Given the description of an element on the screen output the (x, y) to click on. 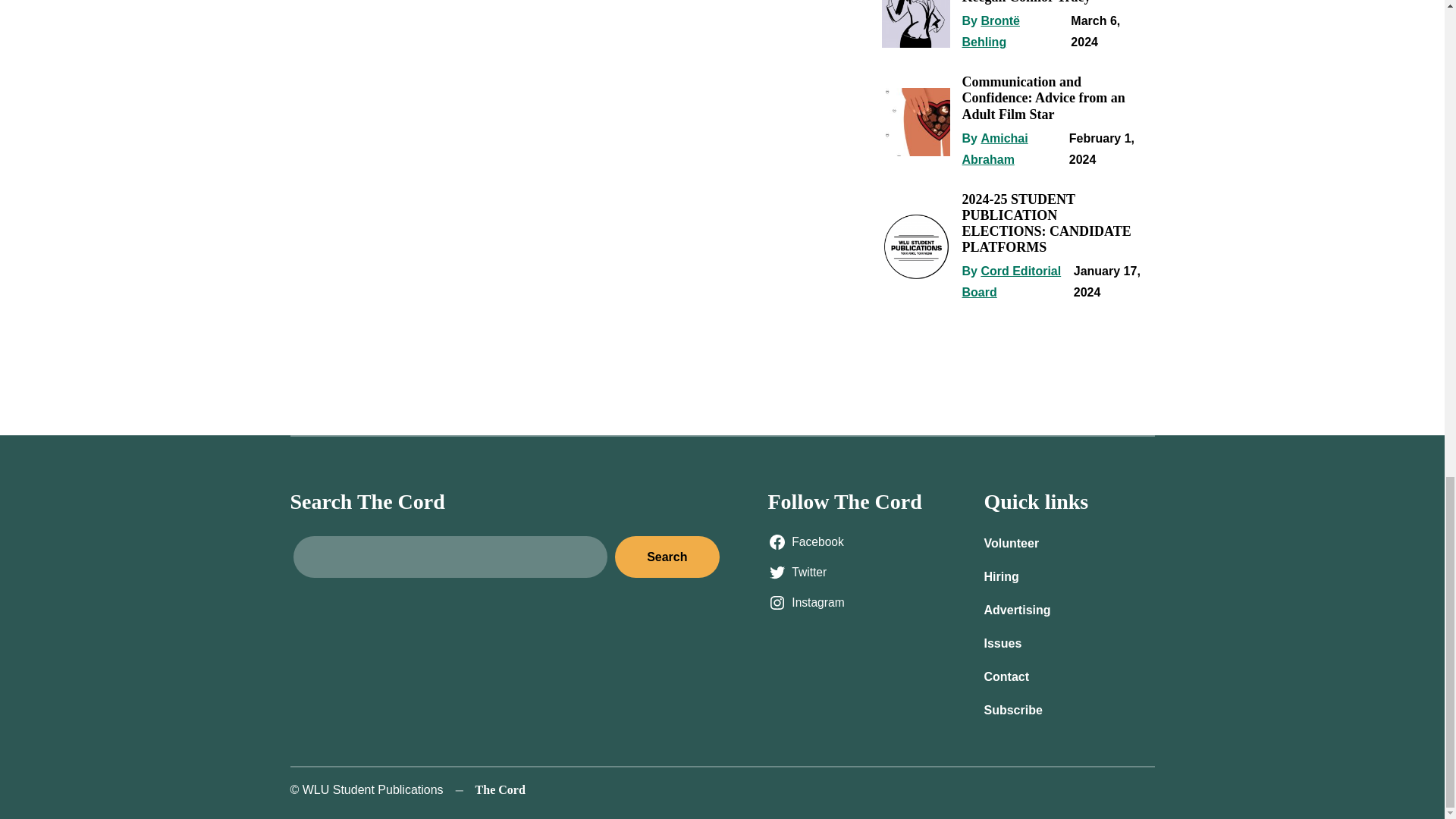
Posts by Amichai Abraham (993, 148)
Posts by Cord Editorial Board (1010, 281)
